Given the description of an element on the screen output the (x, y) to click on. 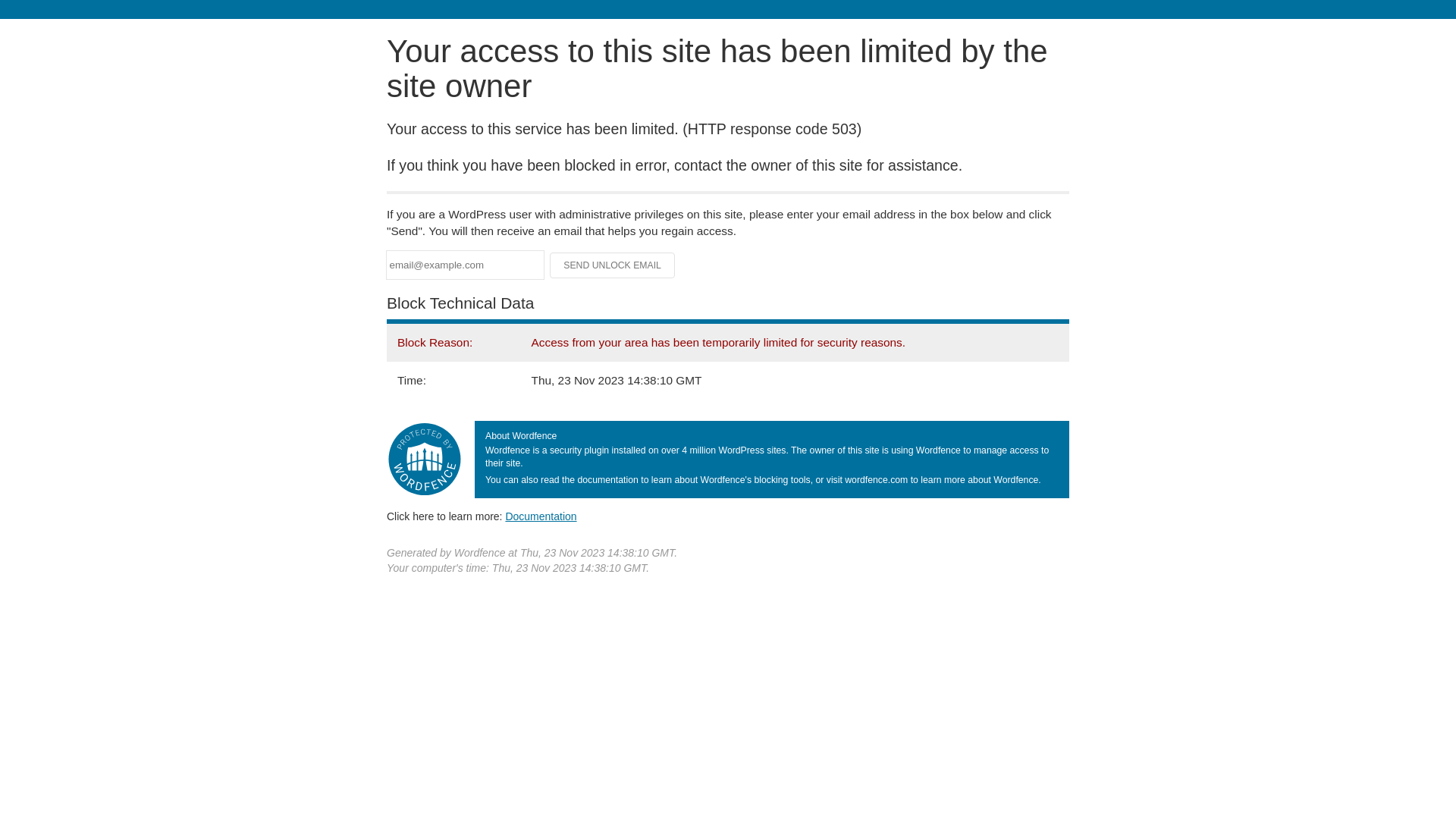
Documentation Element type: text (540, 516)
Send Unlock Email Element type: text (612, 265)
